Given the description of an element on the screen output the (x, y) to click on. 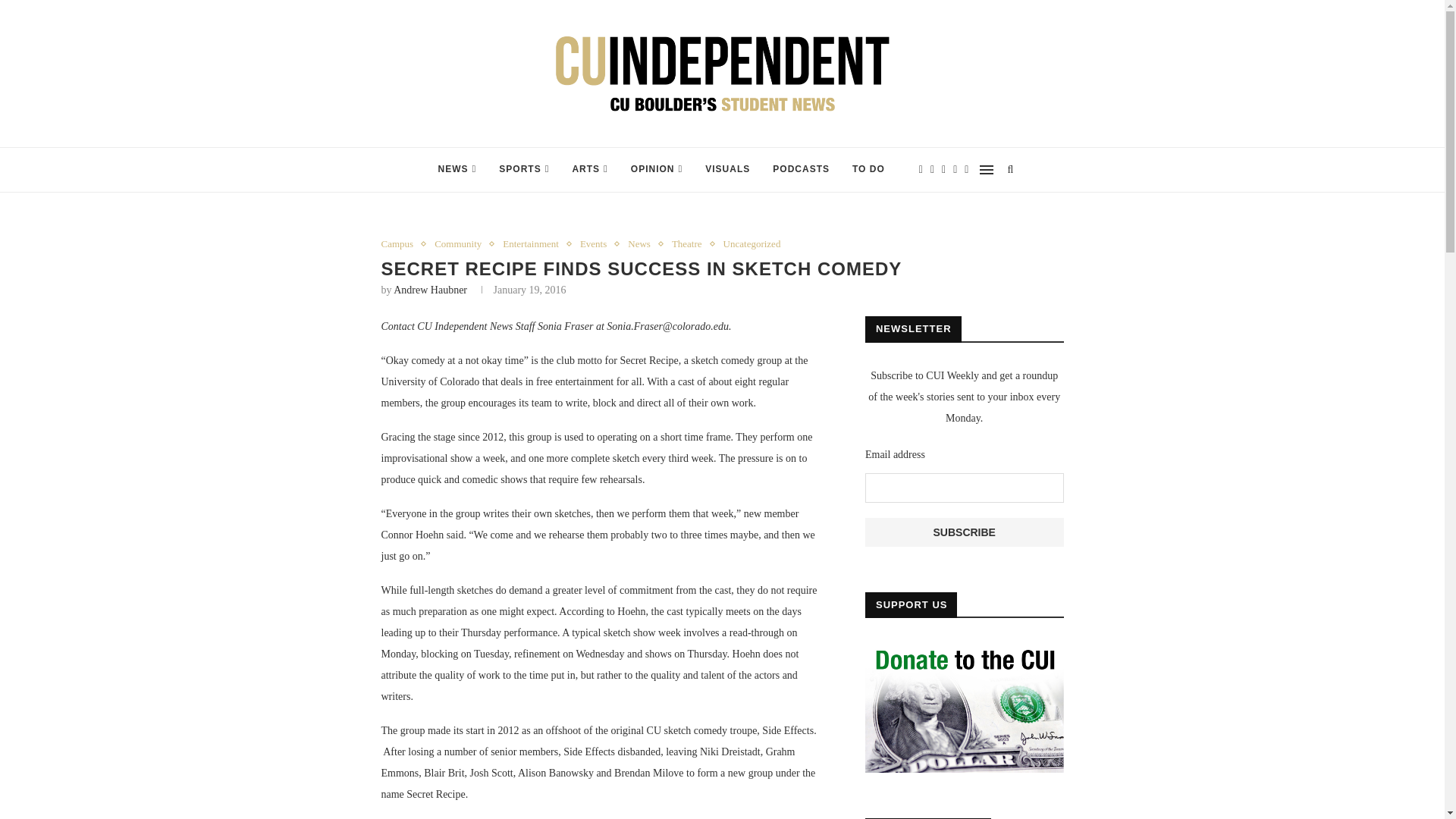
Subscribe (964, 532)
